Given the description of an element on the screen output the (x, y) to click on. 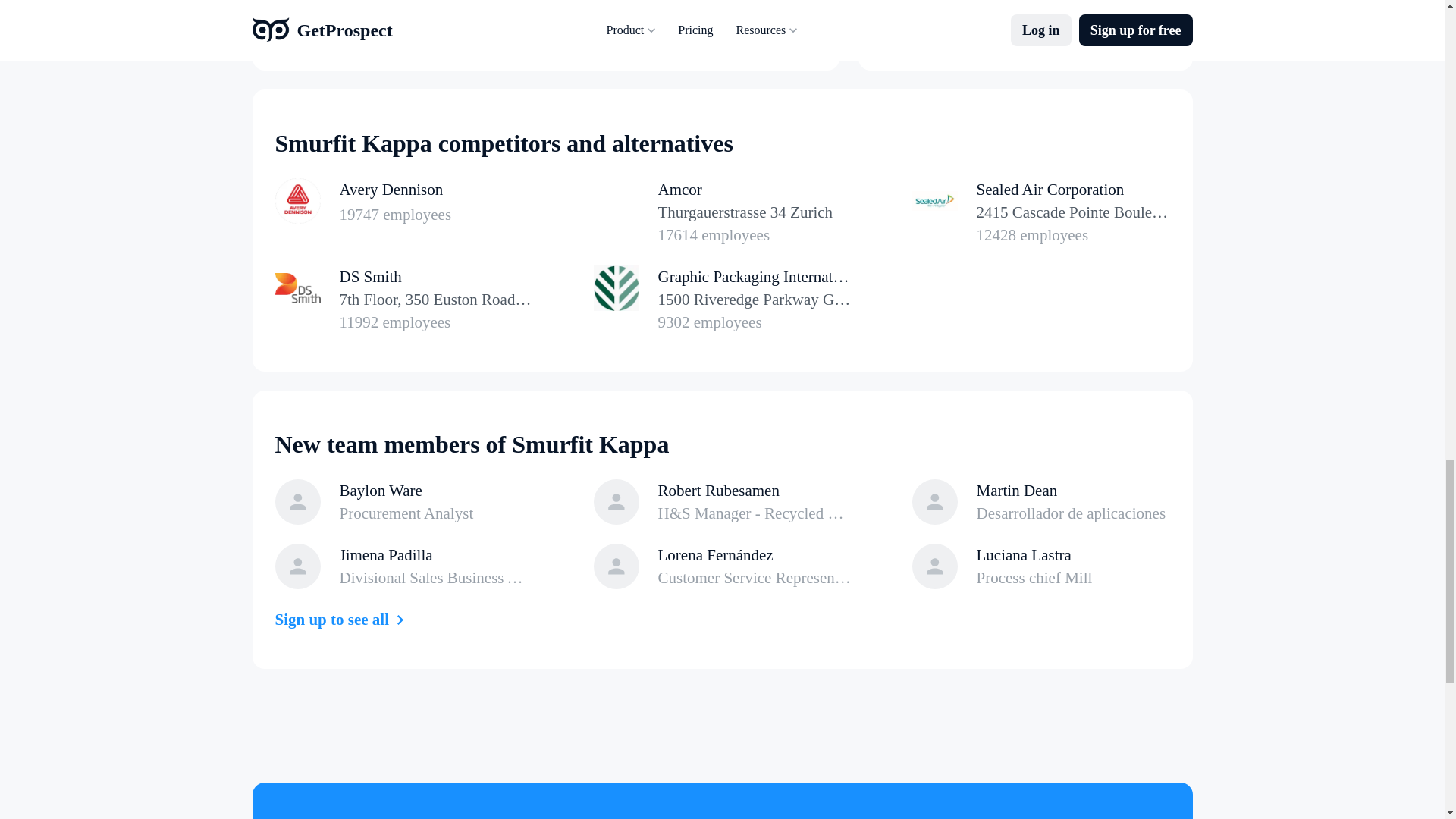
Sign up to see all (343, 619)
Show email (740, 14)
